Given the description of an element on the screen output the (x, y) to click on. 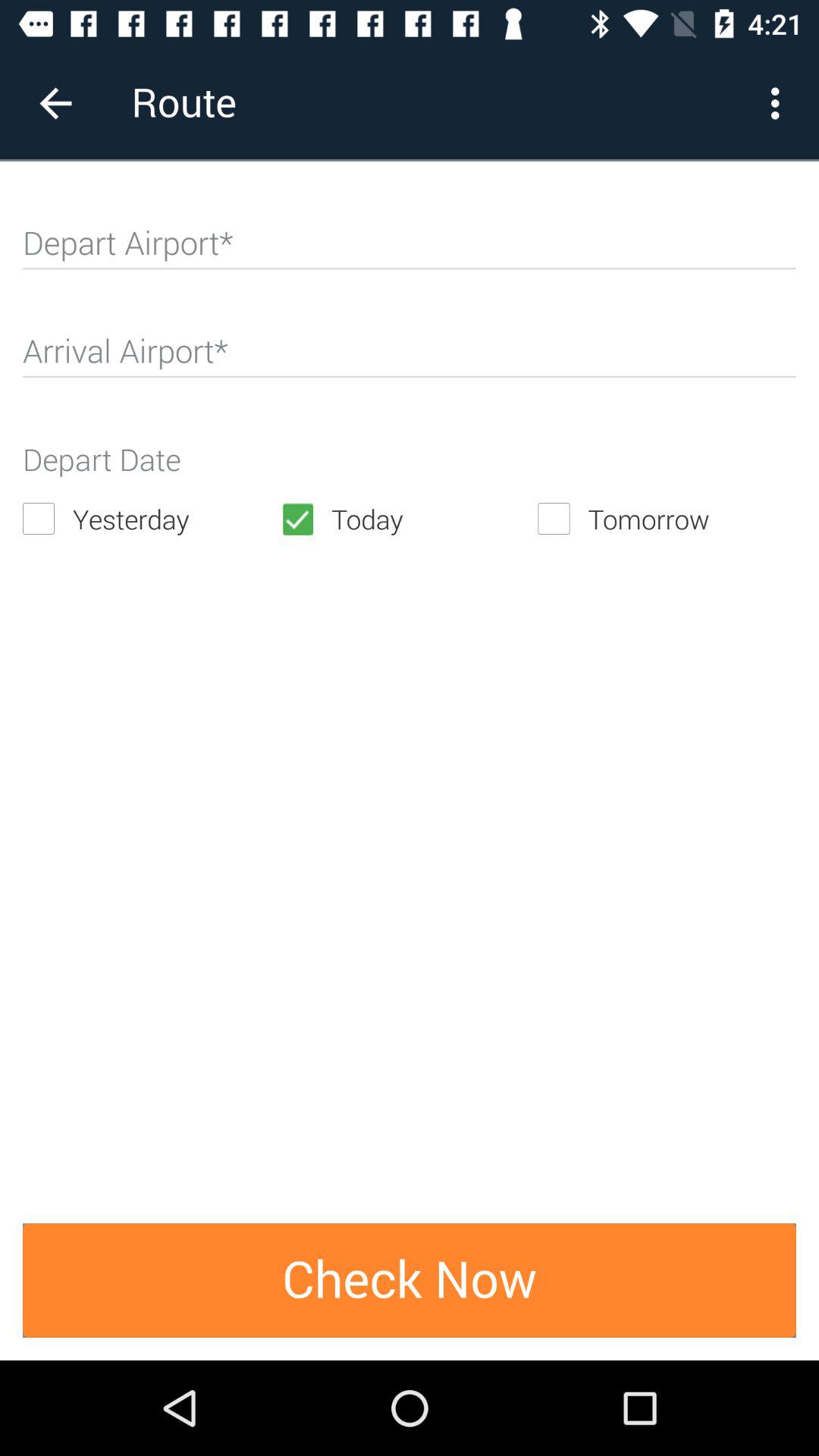
enter arrival airport code or name (409, 357)
